Given the description of an element on the screen output the (x, y) to click on. 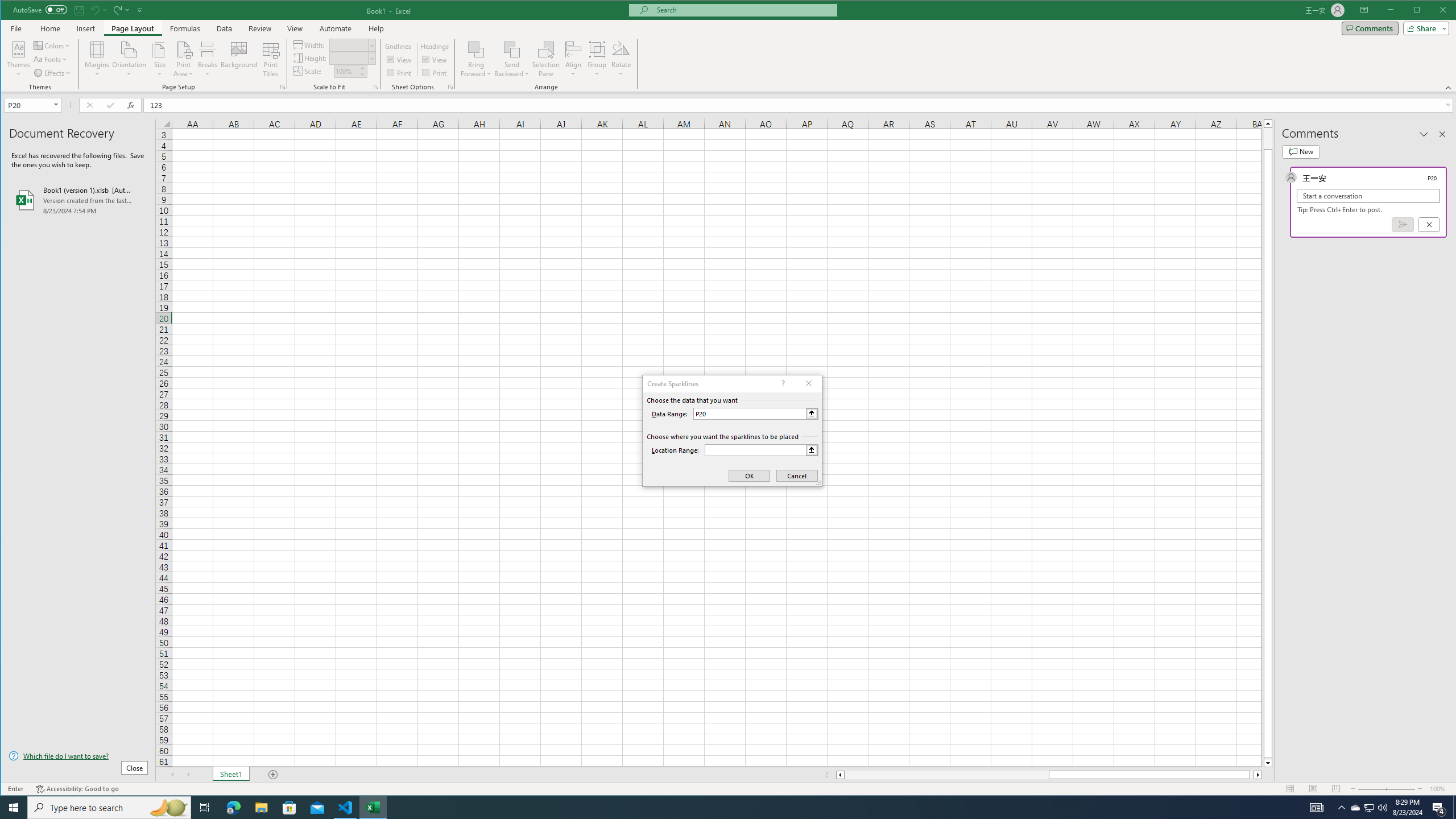
Send Backward (512, 59)
Orientation (129, 59)
Cancel (1428, 224)
Send Backward (512, 48)
Page up (1267, 138)
Effects (53, 72)
